Given the description of an element on the screen output the (x, y) to click on. 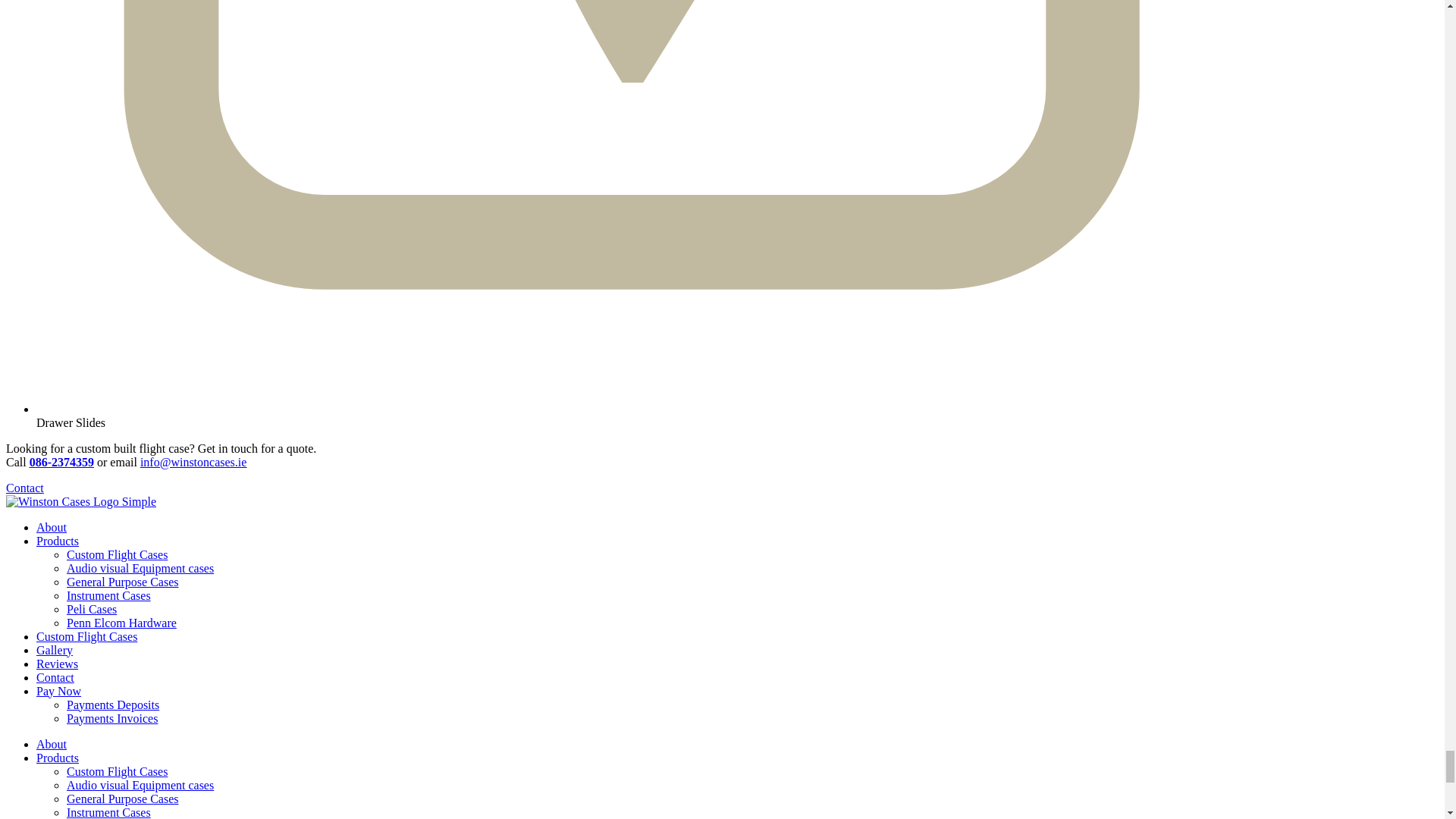
086-2374359 (61, 461)
